Given the description of an element on the screen output the (x, y) to click on. 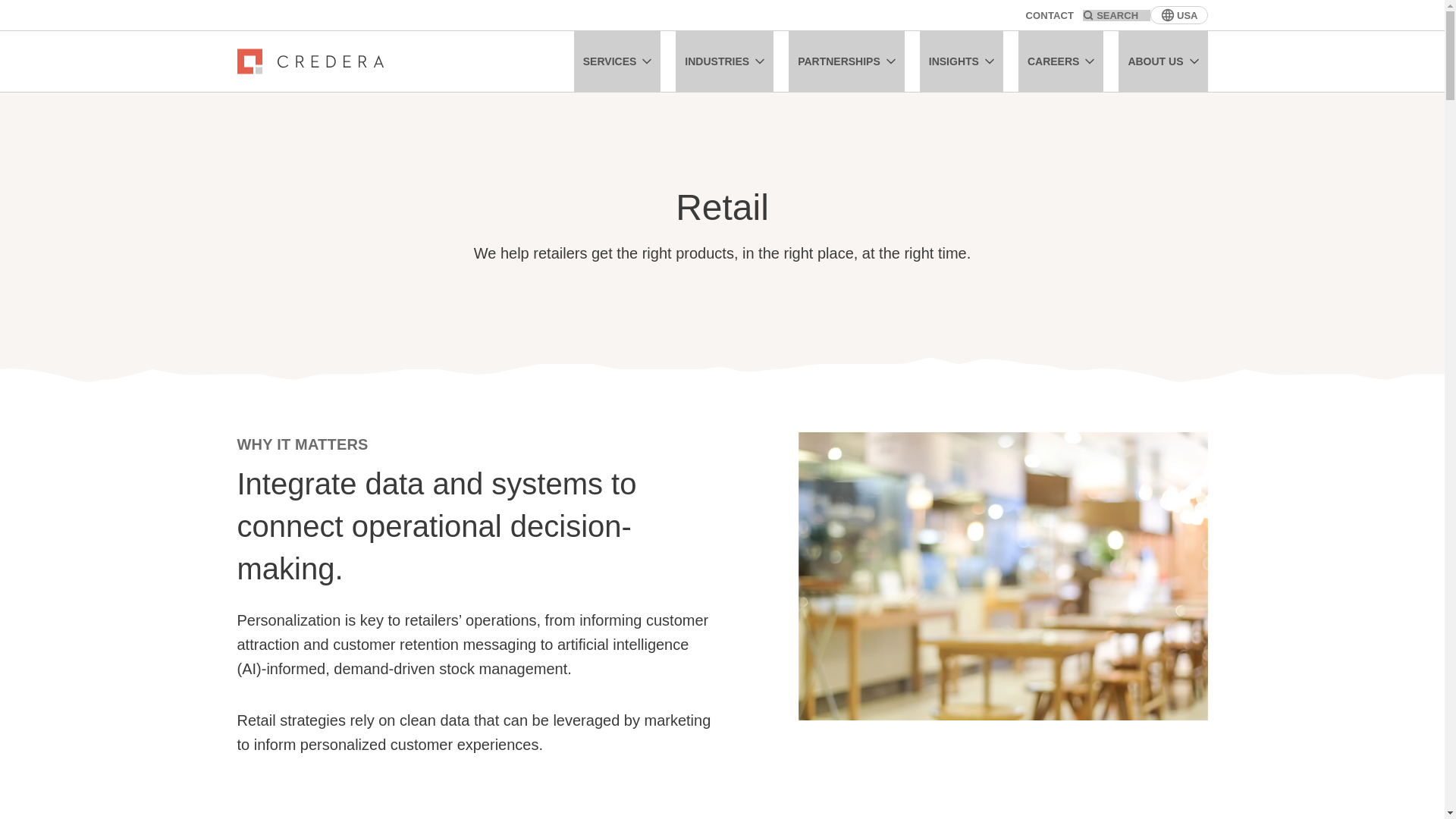
ABOUT US (1162, 61)
SEARCH (1116, 14)
CAREERS (1060, 61)
CONTACT (1049, 14)
SERVICES (617, 61)
USA (1178, 14)
PARTNERSHIPS (846, 61)
INSIGHTS (961, 61)
INDUSTRIES (724, 61)
